Given the description of an element on the screen output the (x, y) to click on. 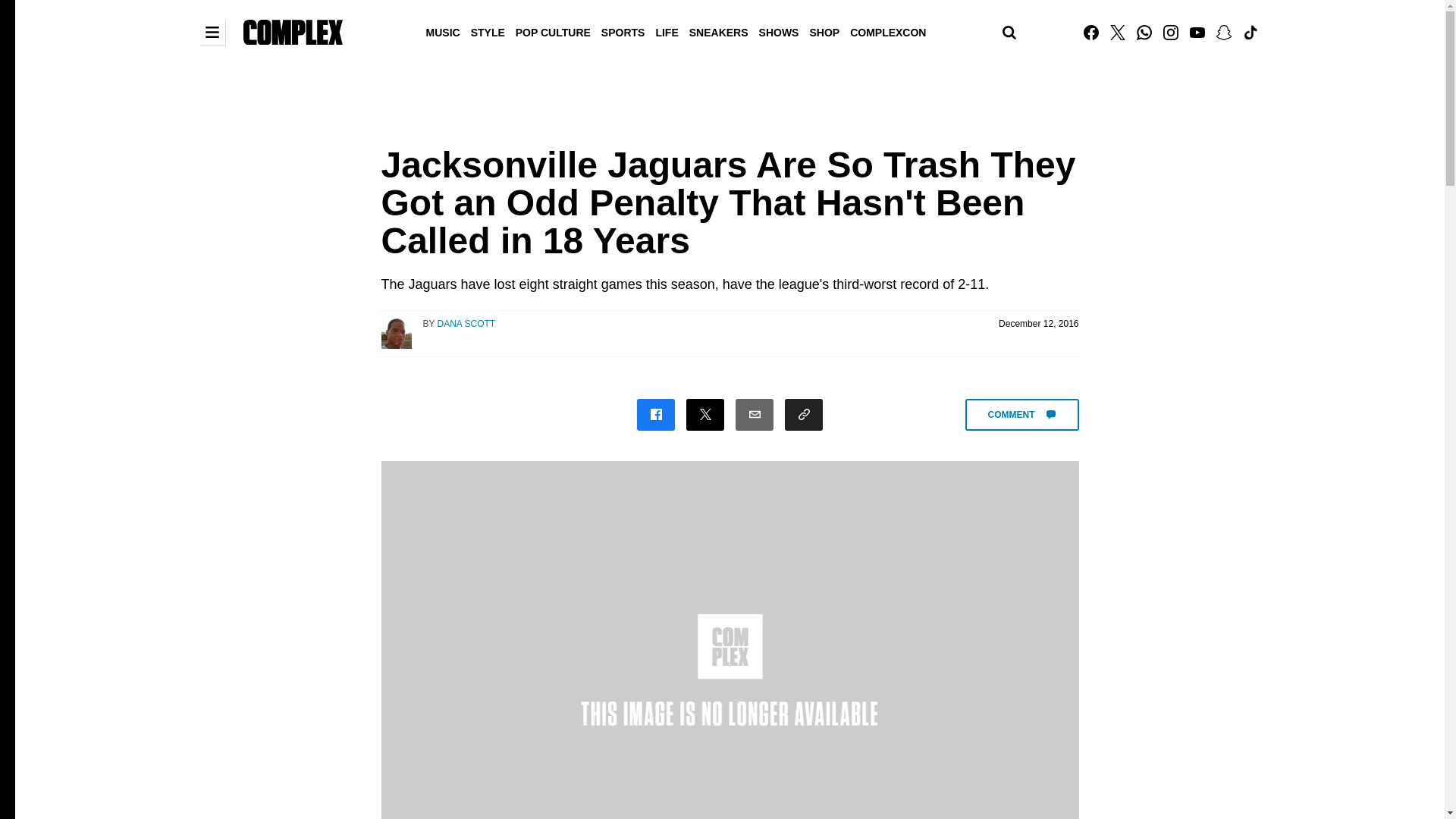
MUSIC (442, 30)
SHOP (823, 30)
SPORTS (622, 30)
SNEAKERS (719, 30)
LIFE (665, 30)
STYLE (488, 30)
SHOWS (779, 30)
POP CULTURE (553, 30)
COMPLEXCON (887, 30)
